Given the description of an element on the screen output the (x, y) to click on. 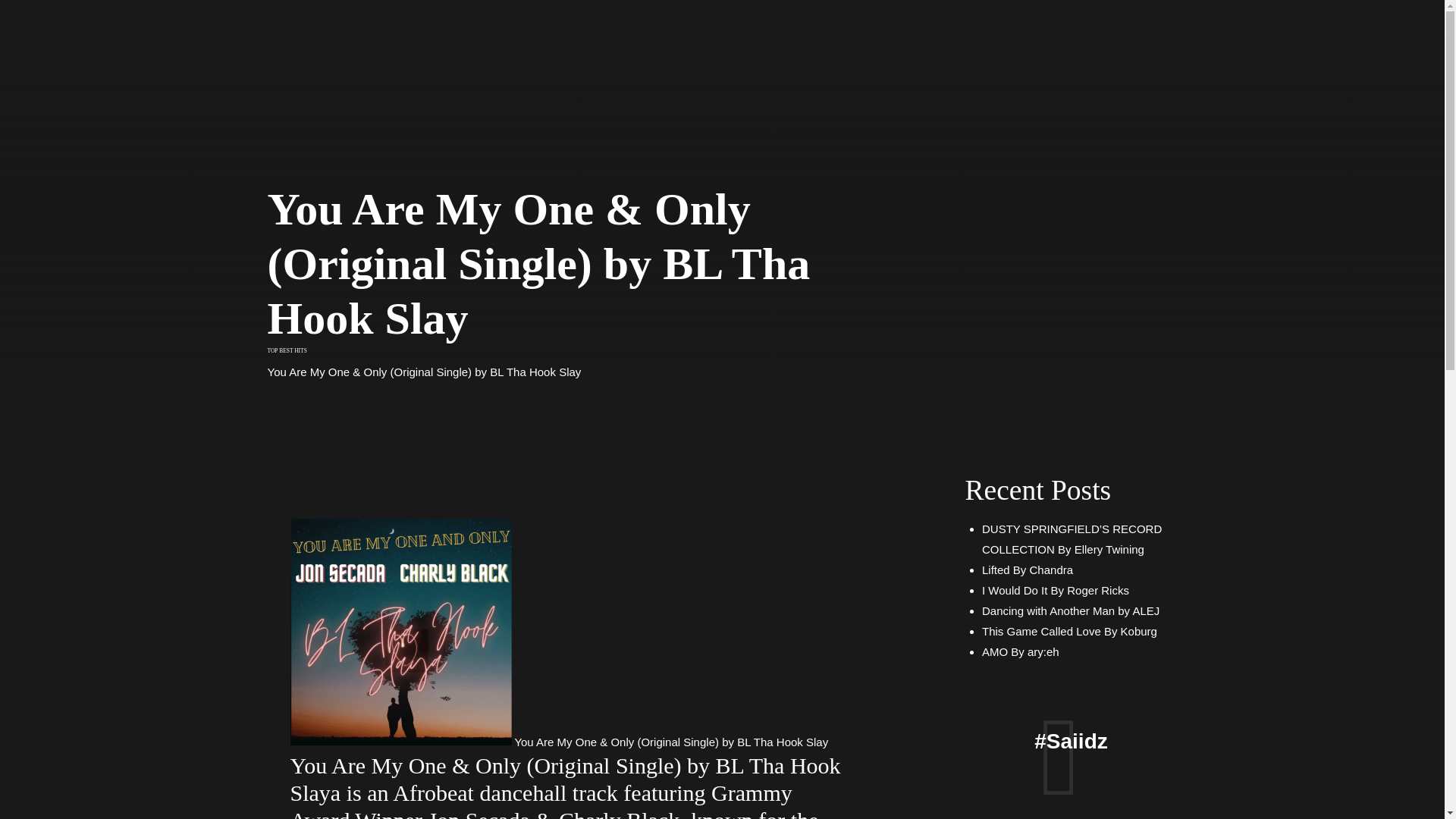
AMO By ary:eh (1020, 651)
I Would Do It By Roger Ricks (1055, 590)
Lifted By Chandra (1027, 569)
TOP BEST HITS (285, 350)
Dancing with Another Man by ALEJ (1069, 610)
This Game Called Love By Koburg (1069, 631)
